Given the description of an element on the screen output the (x, y) to click on. 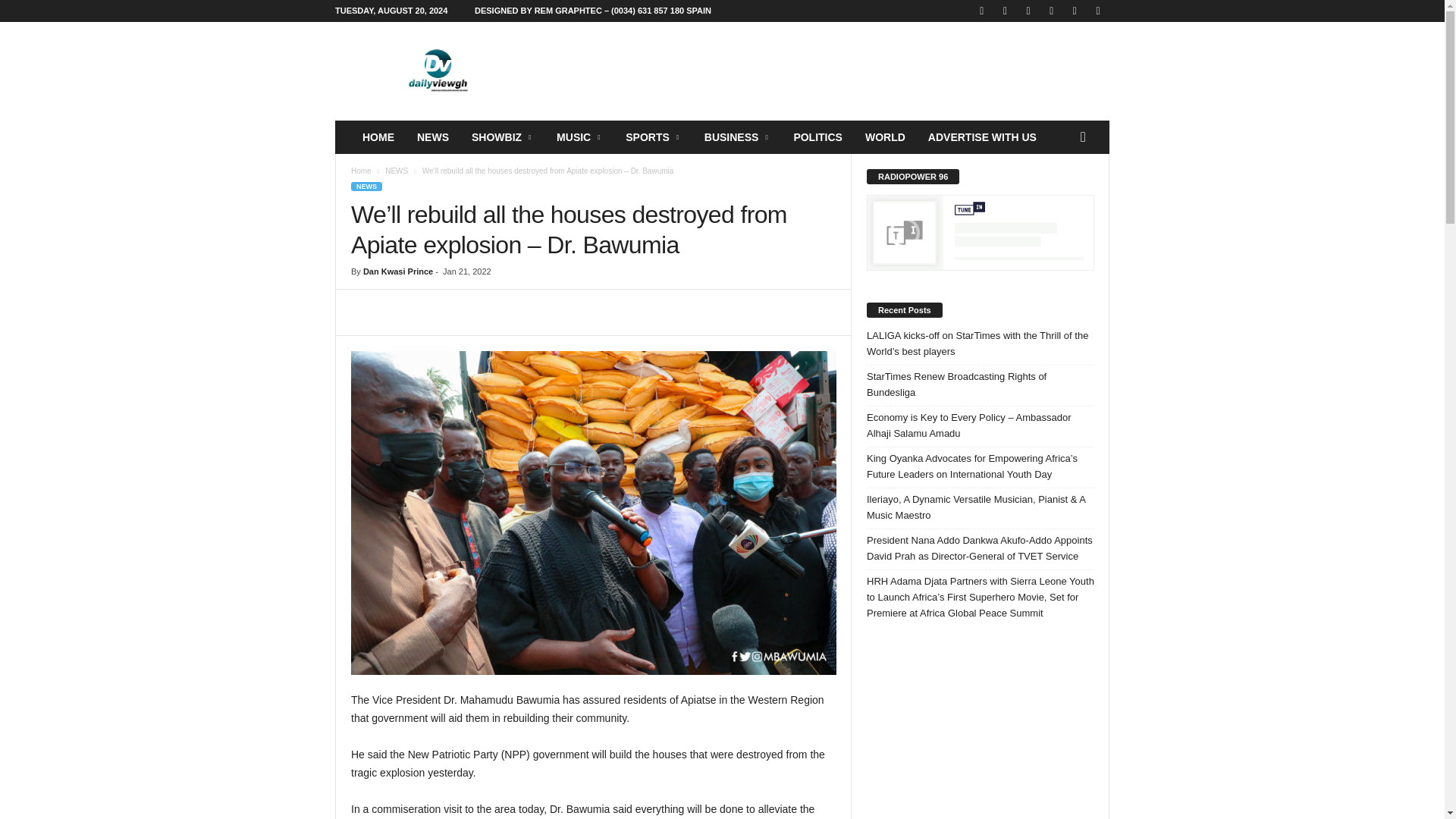
HOME (378, 136)
SHOWBIZ (502, 136)
NEWS (433, 136)
Daily View Gh (437, 70)
